Given the description of an element on the screen output the (x, y) to click on. 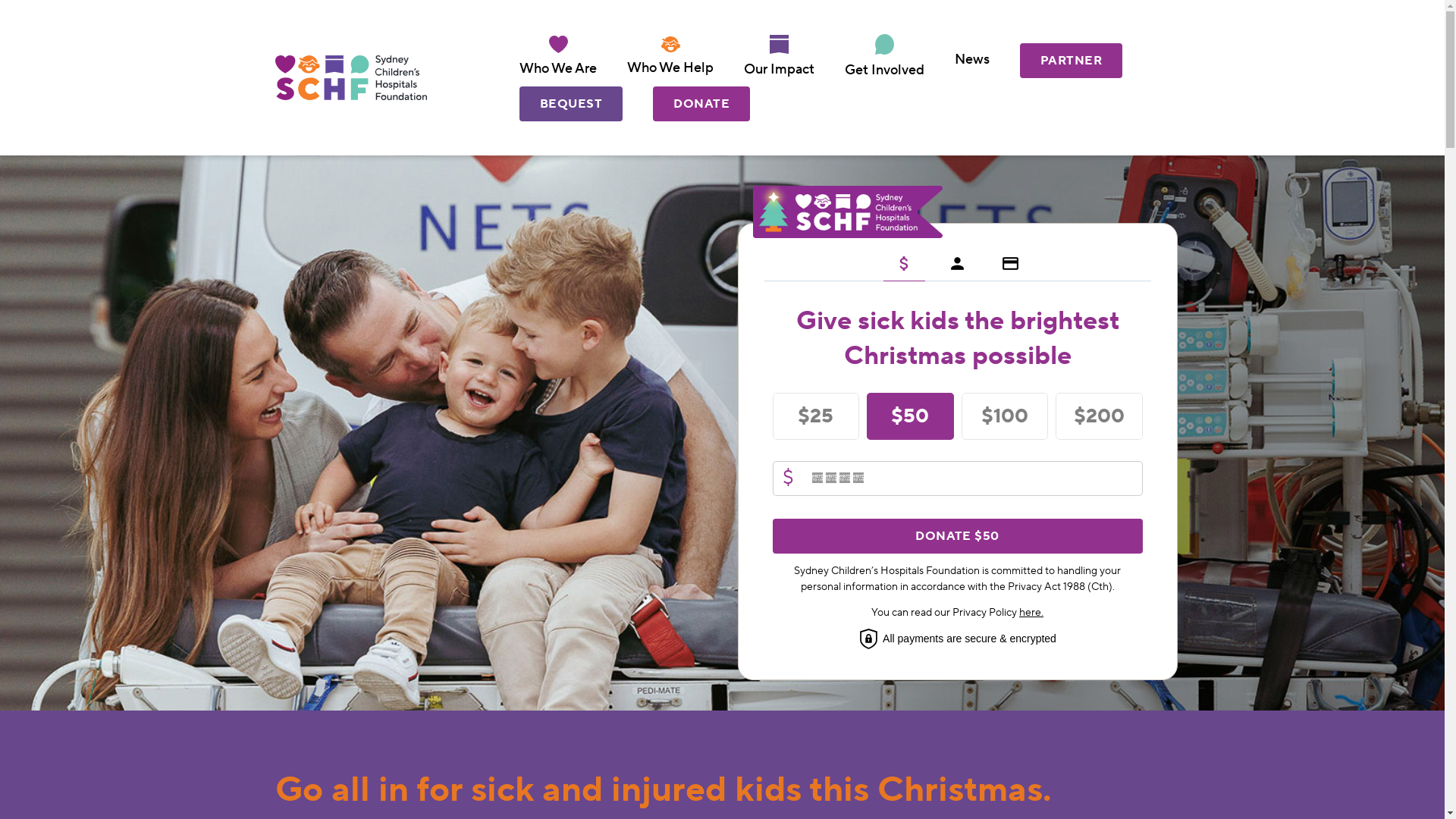
Who We Help Element type: text (670, 68)
Our Impact Element type: text (778, 69)
here. Element type: text (1031, 612)
Who We Are Element type: text (557, 69)
SCHF Xmas Appeal Logo Element type: hover (846, 211)
BEQUEST Element type: text (570, 103)
News Element type: text (971, 59)
PARTNER Element type: text (1070, 60)
Get Involved Element type: text (884, 70)
DONATE Element type: text (700, 103)
DONATE $50 Element type: text (956, 535)
